Given the description of an element on the screen output the (x, y) to click on. 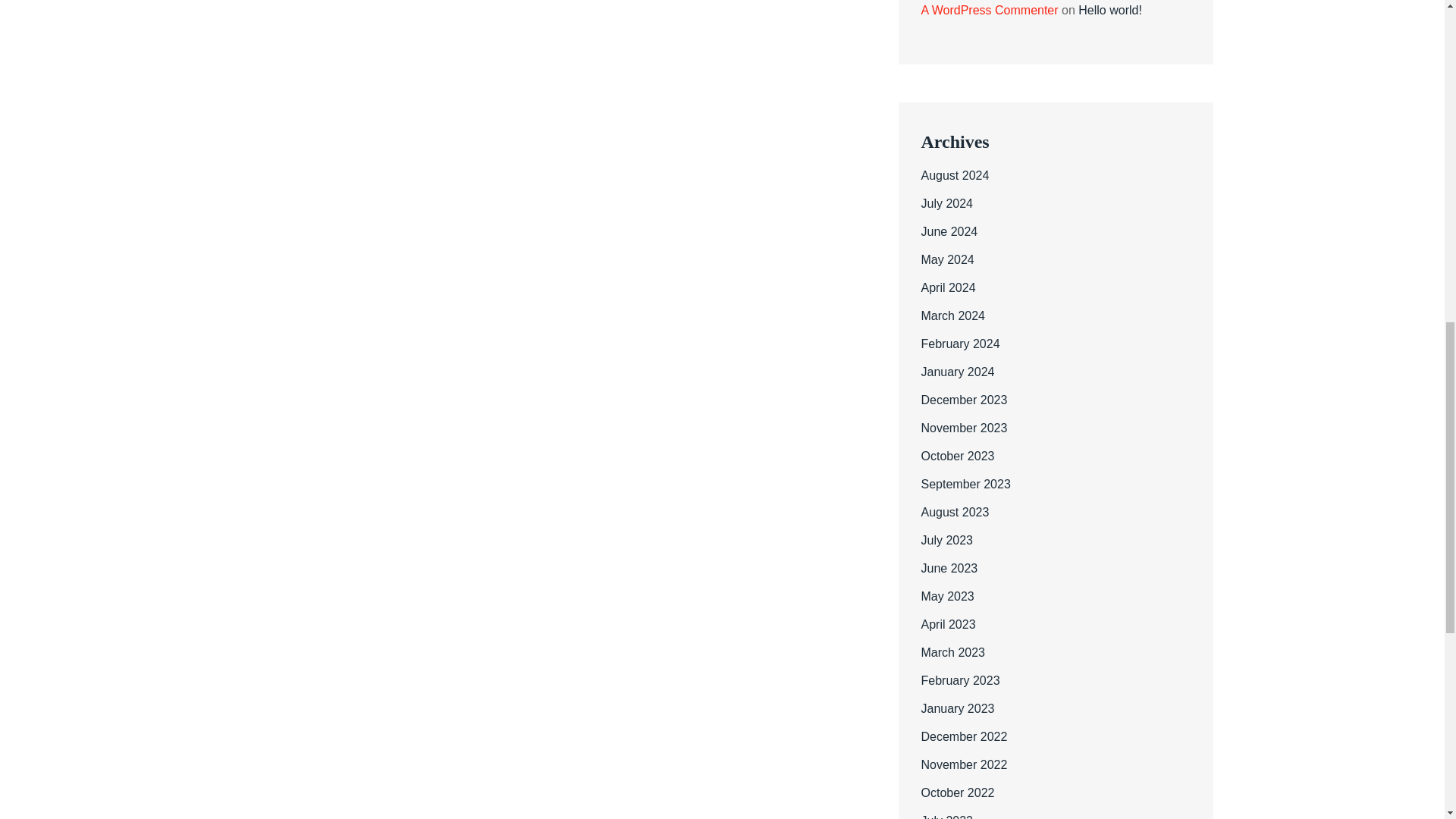
March 2023 (952, 652)
August 2023 (954, 512)
November 2023 (963, 427)
June 2023 (948, 567)
A WordPress Commenter (989, 10)
July 2024 (946, 203)
Hello world! (1109, 10)
May 2023 (947, 595)
May 2024 (947, 259)
July 2023 (946, 540)
